Given the description of an element on the screen output the (x, y) to click on. 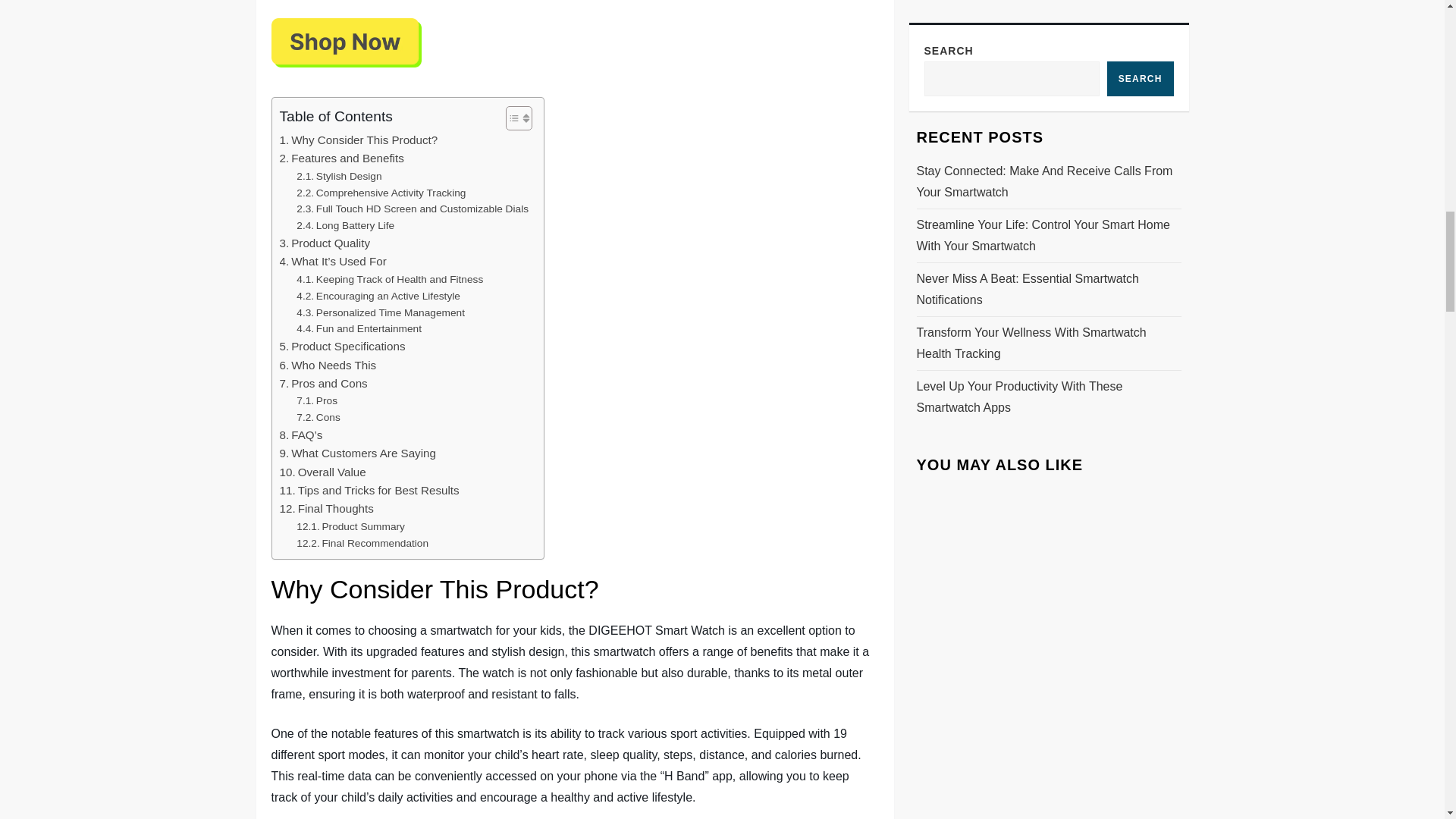
Personalized Time Management (380, 312)
Long Battery Life (345, 225)
Full Touch HD Screen and Customizable Dials (412, 208)
Why Consider This Product? (358, 140)
Product Quality (324, 243)
Stylish Design (339, 176)
Product Specifications (341, 346)
Product Quality (324, 243)
Long Battery Life (345, 225)
Features and Benefits (341, 158)
Why Consider This Product? (358, 140)
Overall Value (322, 472)
Features and Benefits (341, 158)
Fun and Entertainment (359, 329)
What Customers Are Saying (357, 453)
